Given the description of an element on the screen output the (x, y) to click on. 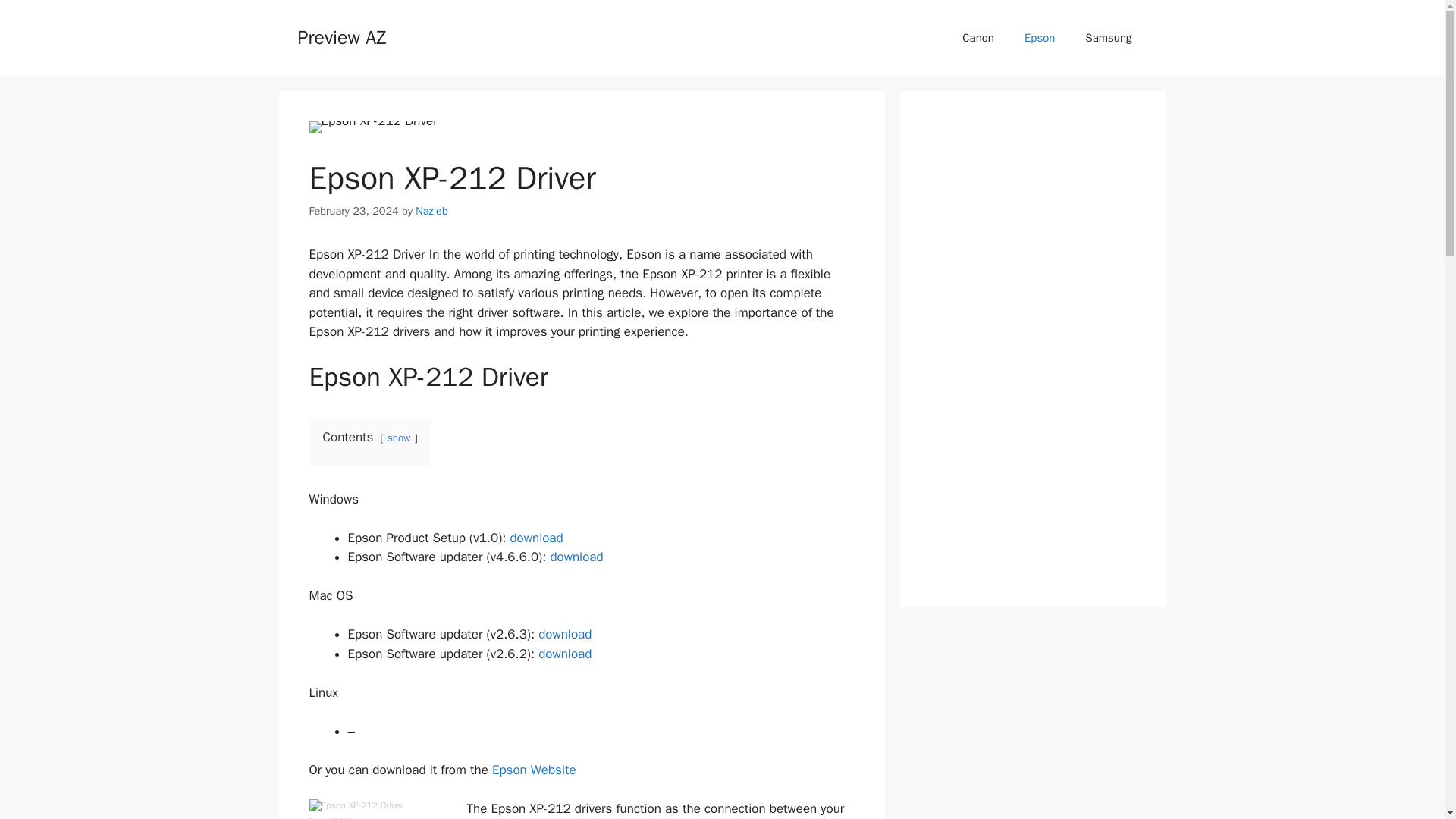
Preview AZ (341, 37)
Canon (978, 37)
Nazieb (430, 210)
show (398, 437)
View all posts by Nazieb (430, 210)
download (535, 537)
Epson XP-212 Driver (373, 127)
Samsung (1108, 37)
download (564, 653)
download (576, 556)
Epson (1039, 37)
 Epson XP-212 Driver (355, 805)
Epson Website (534, 770)
Epson Website (534, 770)
download (564, 634)
